Given the description of an element on the screen output the (x, y) to click on. 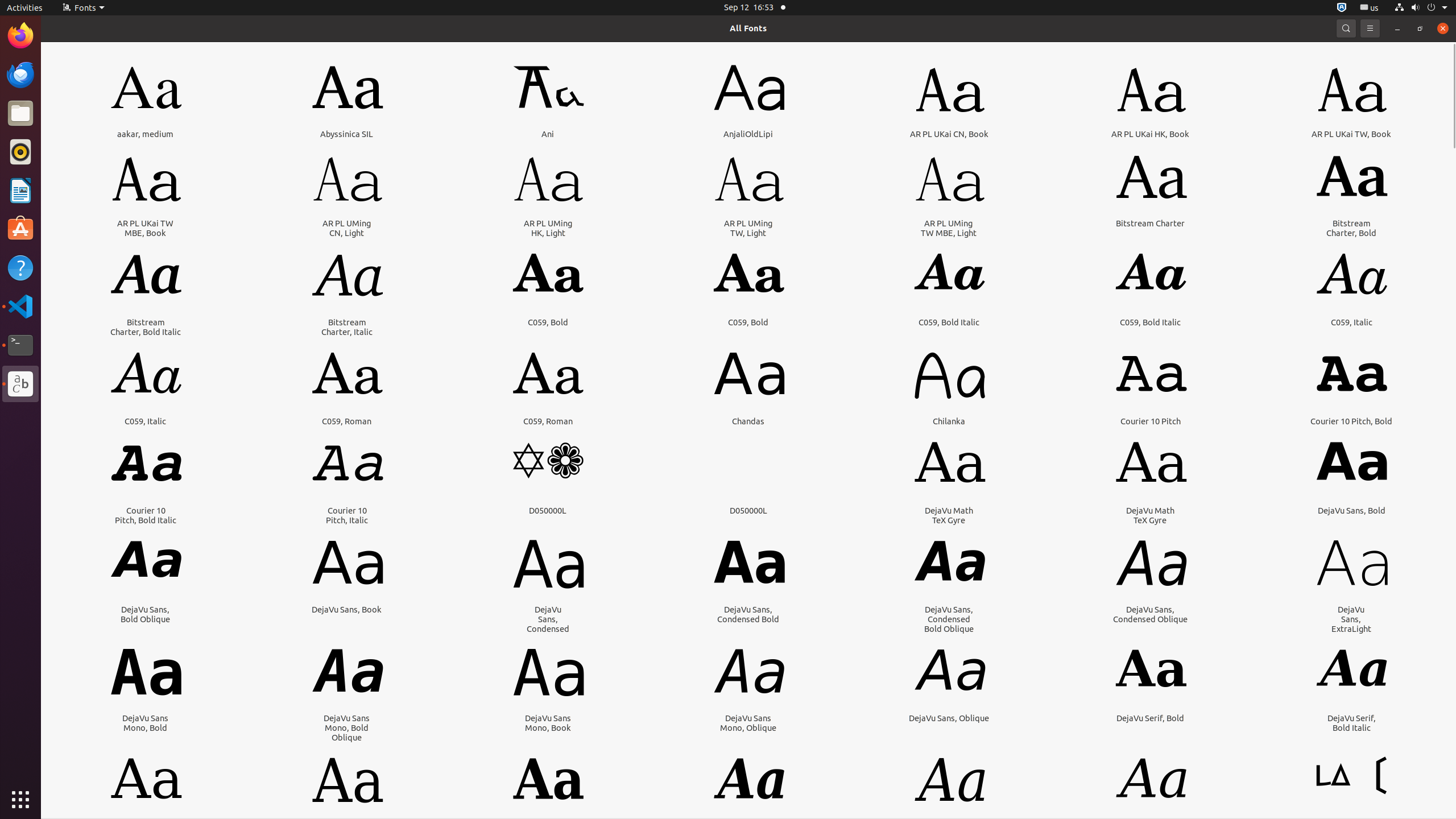
D050000L Element type: label (547, 510)
AR PL UMing HK, Light Element type: label (547, 227)
Terminal Element type: push-button (20, 344)
DejaVu Sans, Bold Element type: label (1351, 510)
Chilanka Element type: label (948, 420)
